Given the description of an element on the screen output the (x, y) to click on. 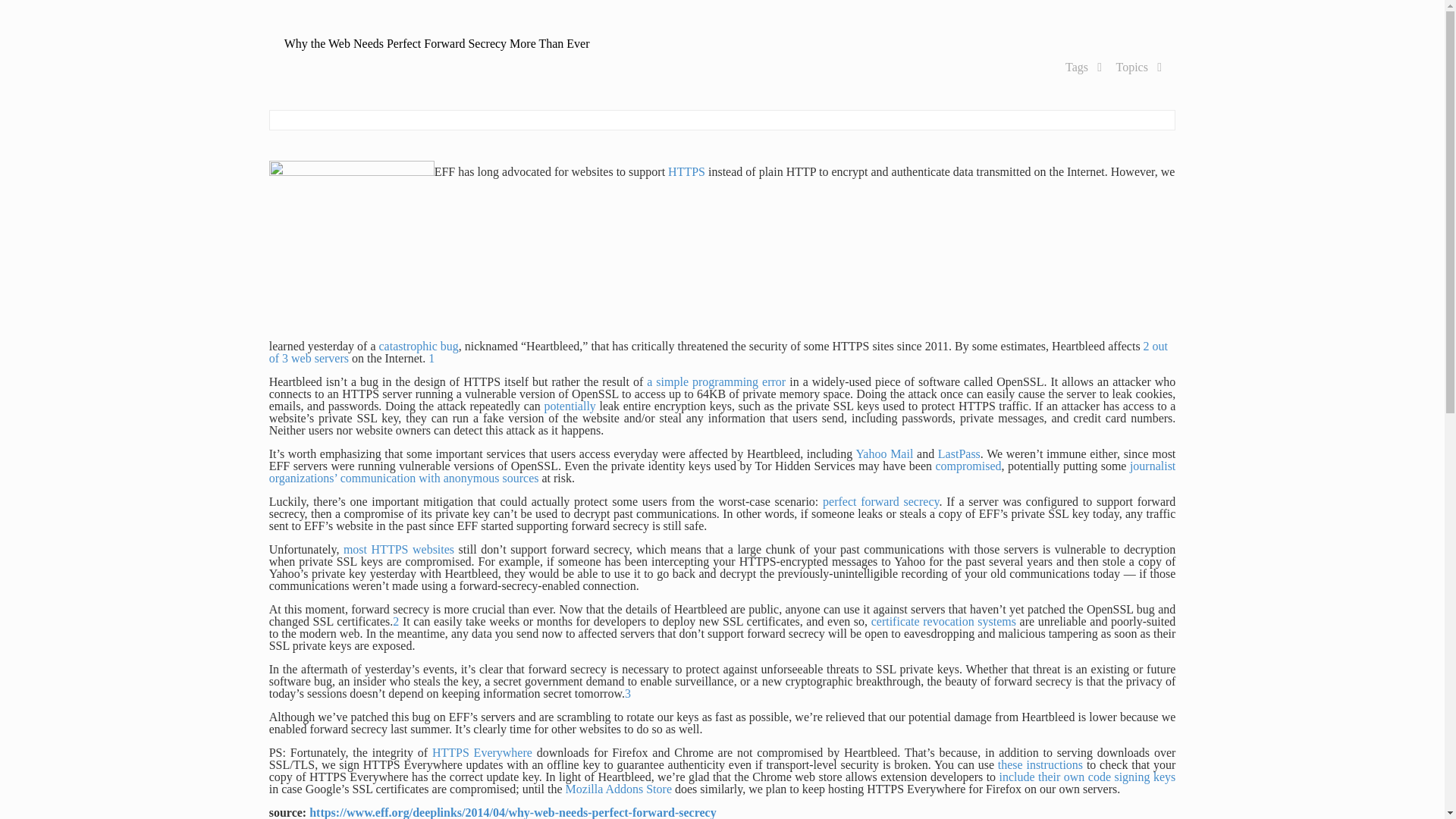
a simple programming error (716, 381)
HTTPS (686, 171)
catastrophic bug (418, 345)
2 out of 3 web servers (718, 351)
